Given the description of an element on the screen output the (x, y) to click on. 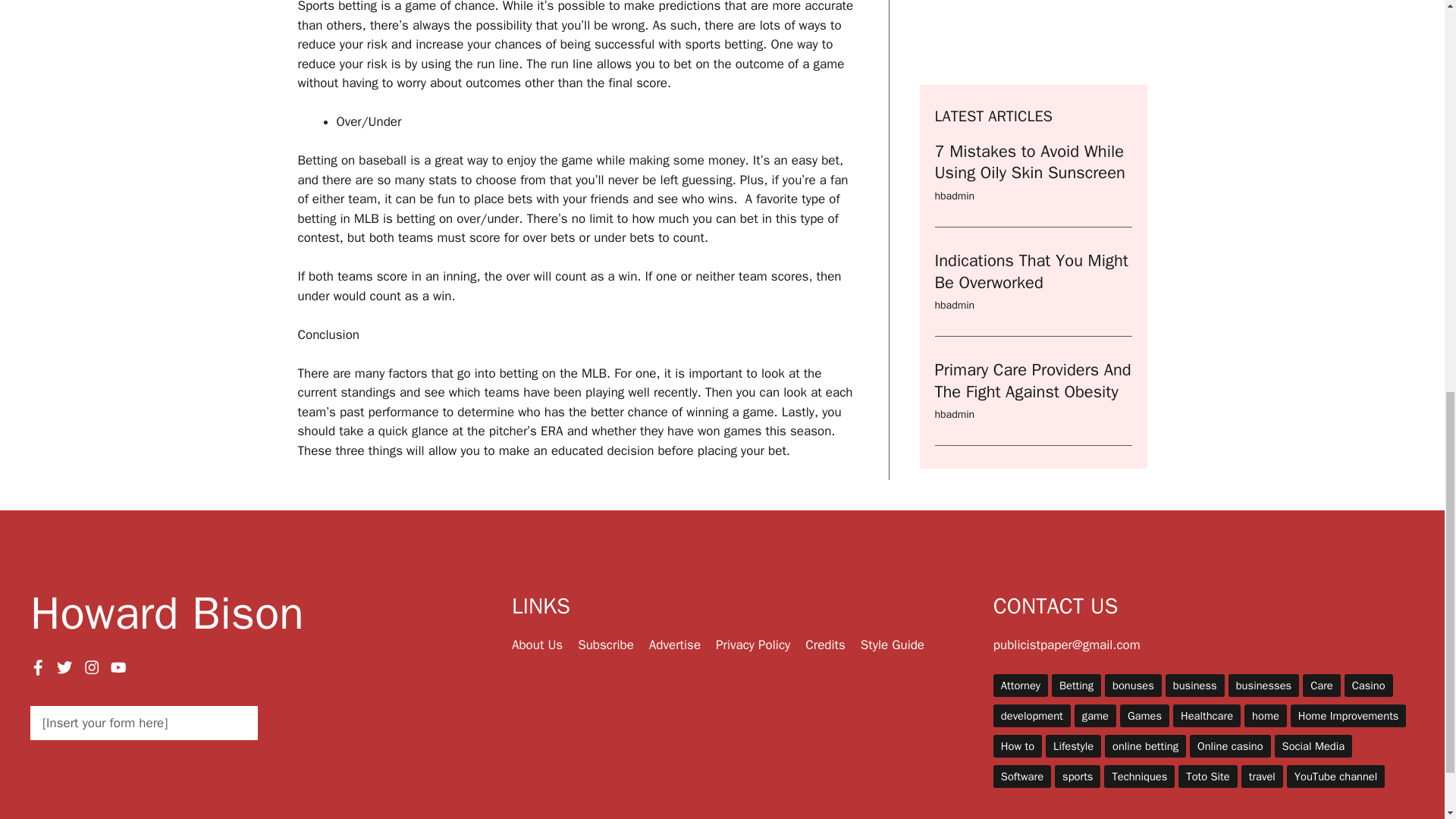
Advertise (674, 644)
Subscribe (605, 644)
Style Guide (892, 644)
Privacy Policy (753, 644)
About Us (537, 644)
development (1031, 715)
Games (1144, 715)
Attorney (1020, 685)
businesses (1263, 685)
Casino (1368, 685)
